Given the description of an element on the screen output the (x, y) to click on. 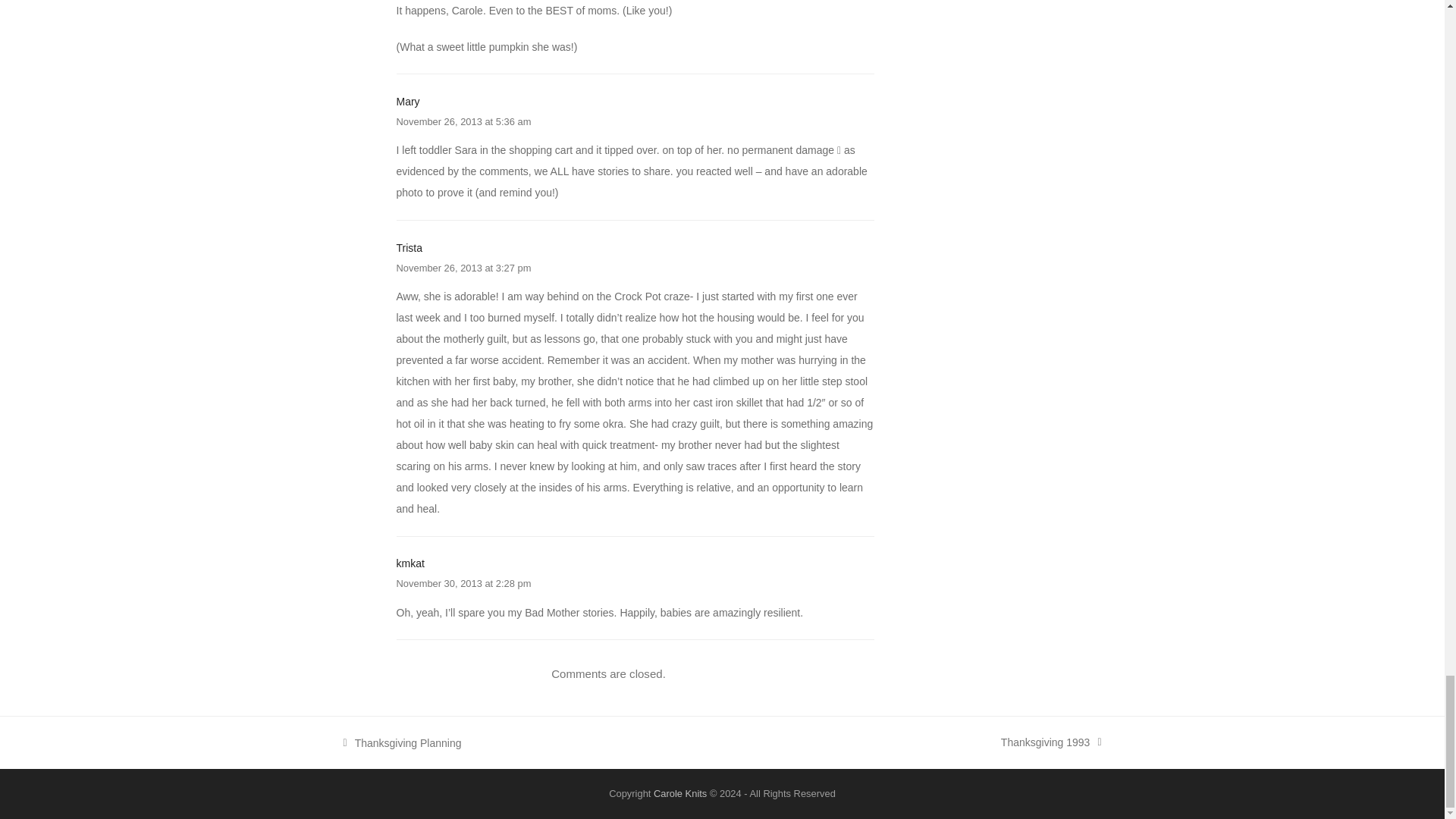
kmkat (409, 563)
November 30, 2013 at 2:28 pm (463, 583)
November 26, 2013 at 5:36 am (463, 121)
Mary (407, 101)
November 26, 2013 at 3:27 pm (463, 266)
